Given the description of an element on the screen output the (x, y) to click on. 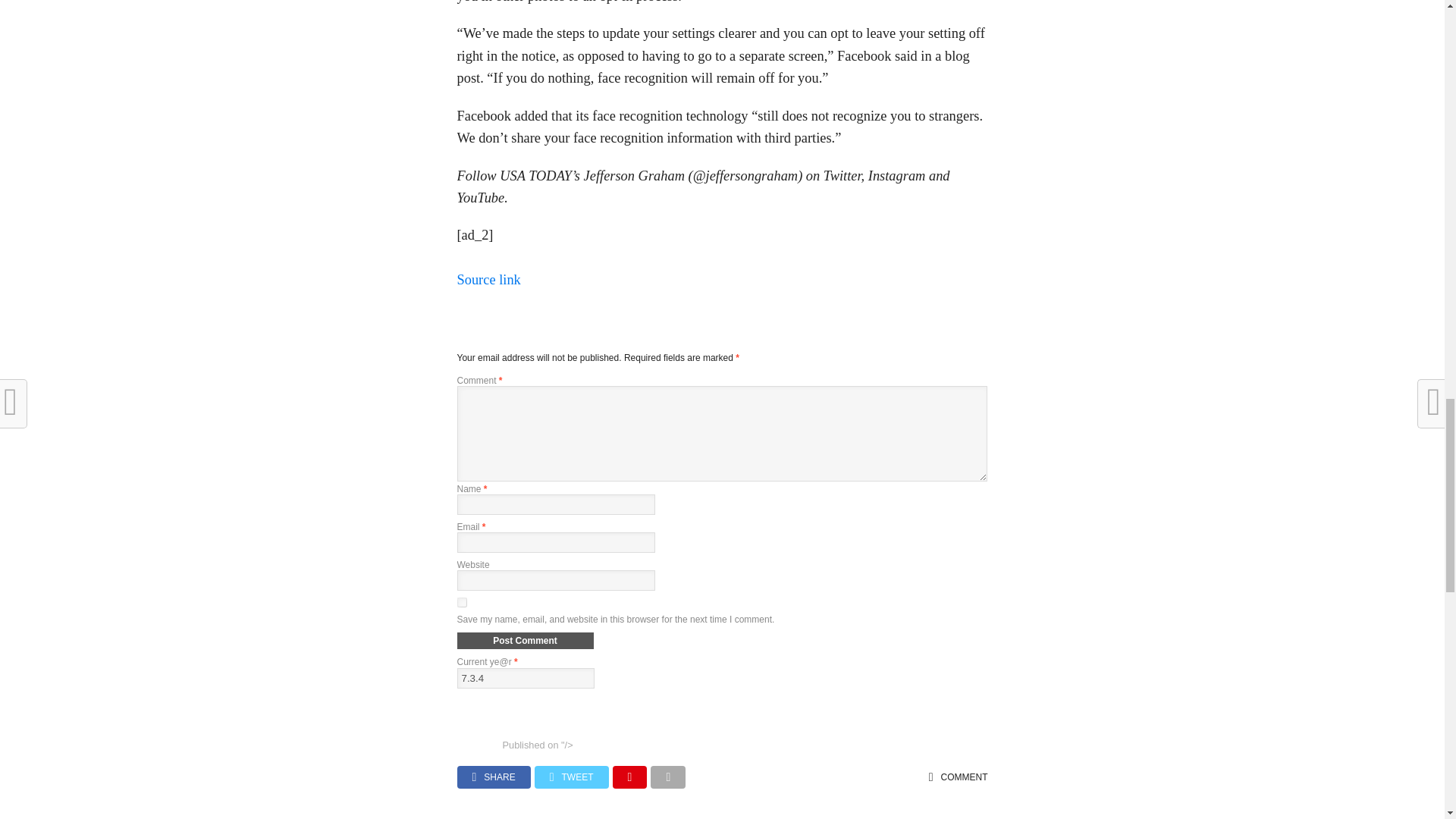
Post Comment (524, 640)
yes (461, 602)
7.3.4 (525, 678)
Source link (488, 279)
Post Comment (524, 640)
